Given the description of an element on the screen output the (x, y) to click on. 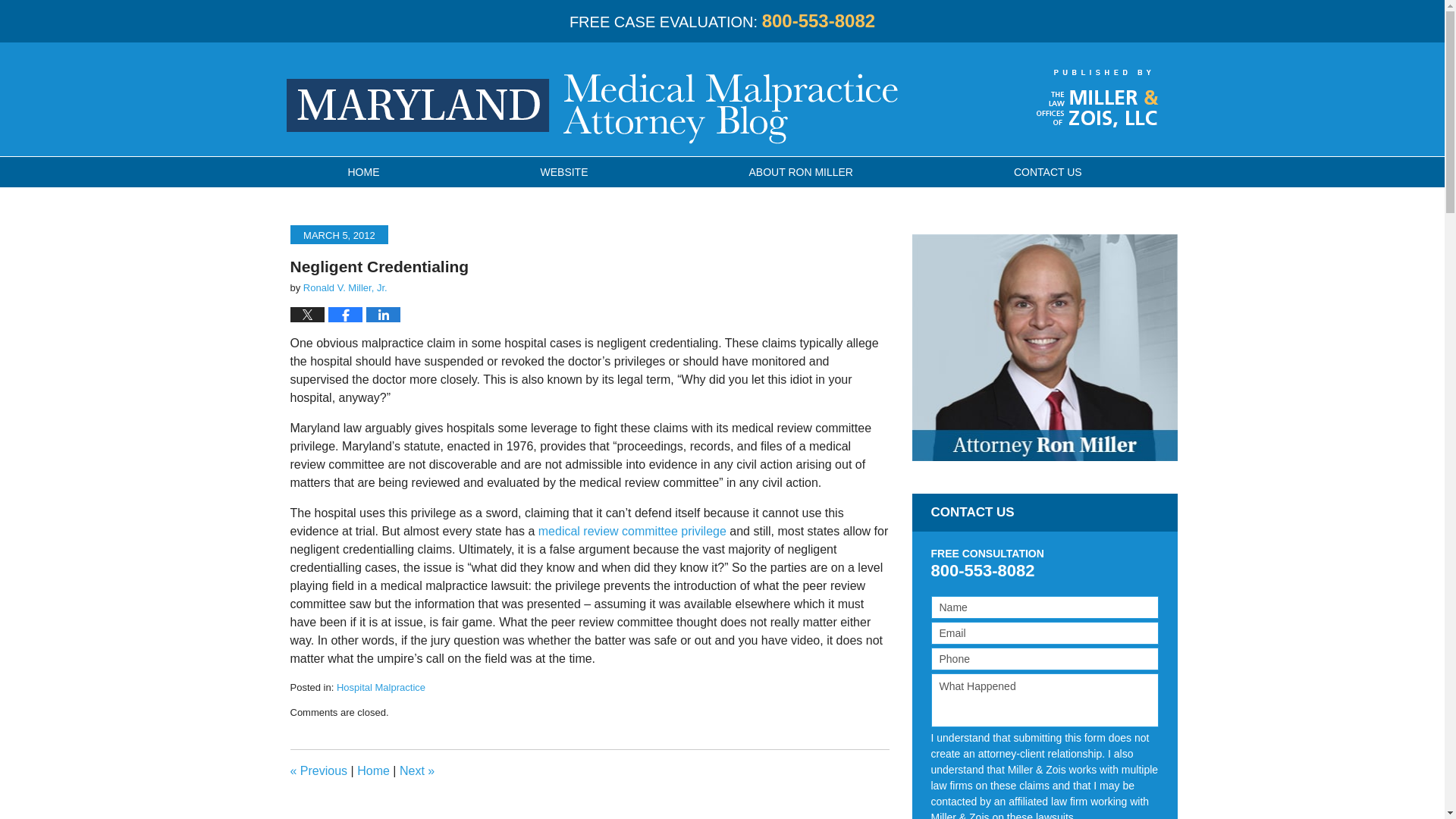
ABOUT RON MILLER (800, 172)
View all posts in Hospital Malpractice (380, 686)
medical review committee privilege (632, 530)
Home (373, 770)
HOME (363, 172)
WEBSITE (564, 172)
Ronald V. Miller, Jr. (344, 287)
Hospital Malpractice (380, 686)
Please enter a valid phone number. (1044, 658)
Maryland Medical Malpractice Attorney Blog (592, 108)
CONTACT US (1047, 172)
